Given the description of an element on the screen output the (x, y) to click on. 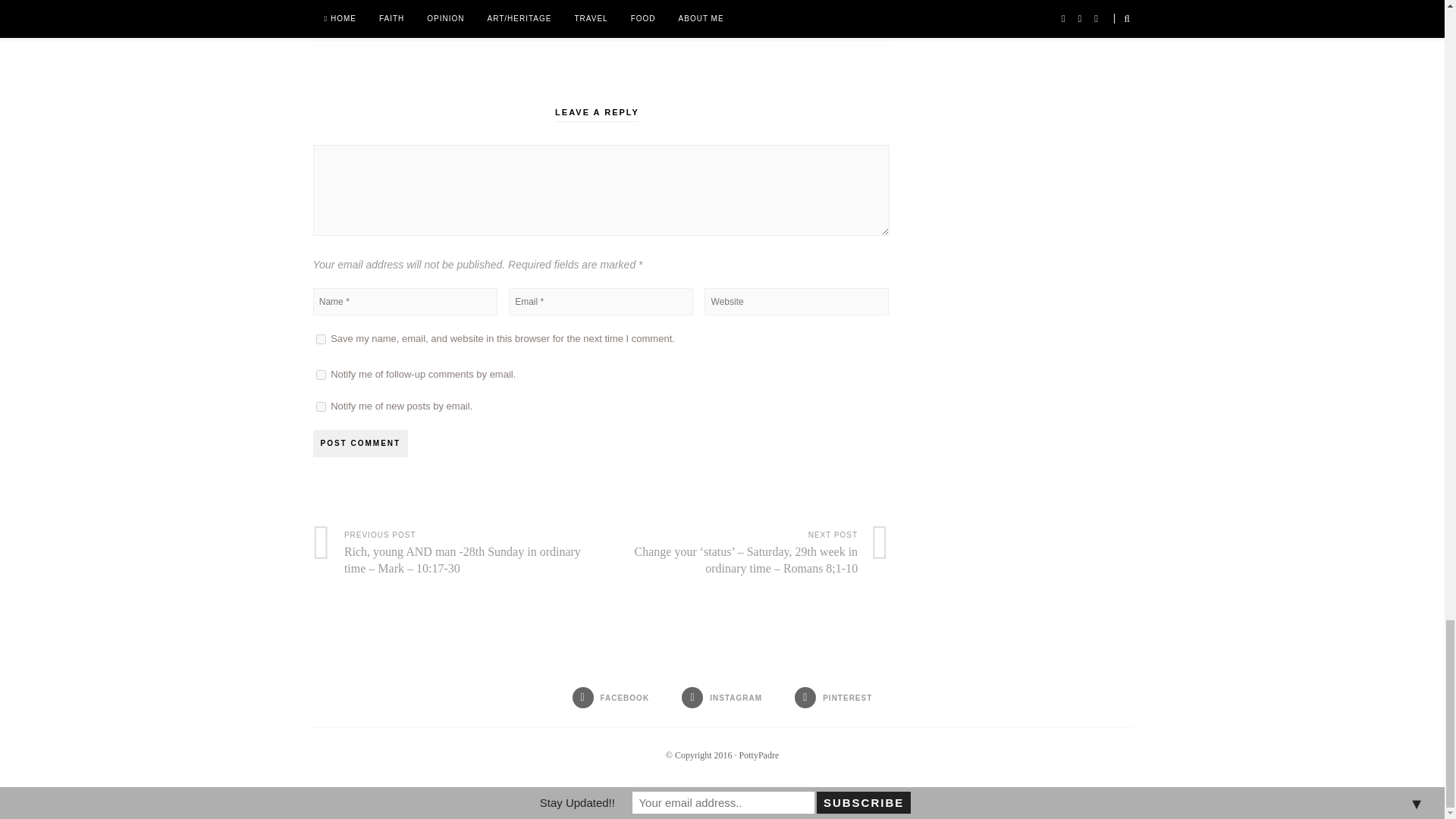
subscribe (319, 406)
Post Comment (360, 443)
subscribe (319, 375)
yes (319, 338)
